Given the description of an element on the screen output the (x, y) to click on. 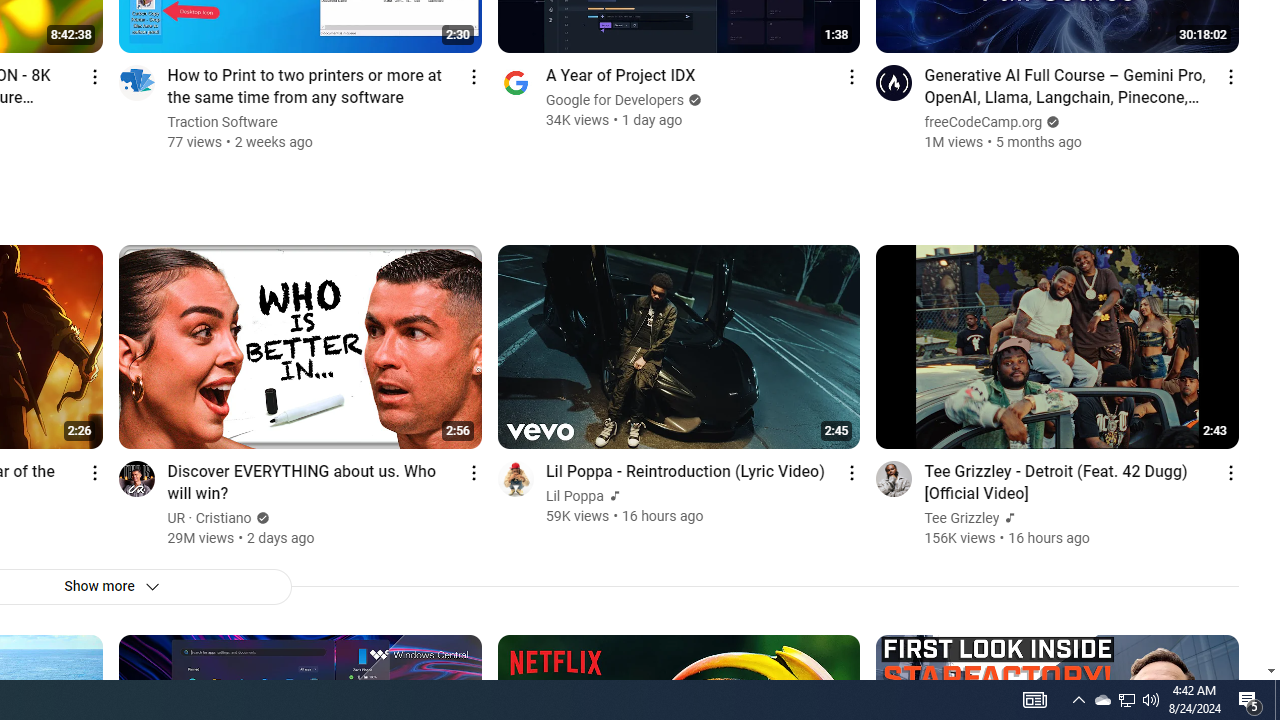
freeCodeCamp.org (984, 122)
Google for Developers (615, 100)
Official Artist Channel (1007, 518)
Lil Poppa (575, 496)
Tee Grizzley (962, 518)
Verified (260, 518)
Go to channel (893, 478)
Action menu (1229, 472)
Traction Software (223, 122)
